Given the description of an element on the screen output the (x, y) to click on. 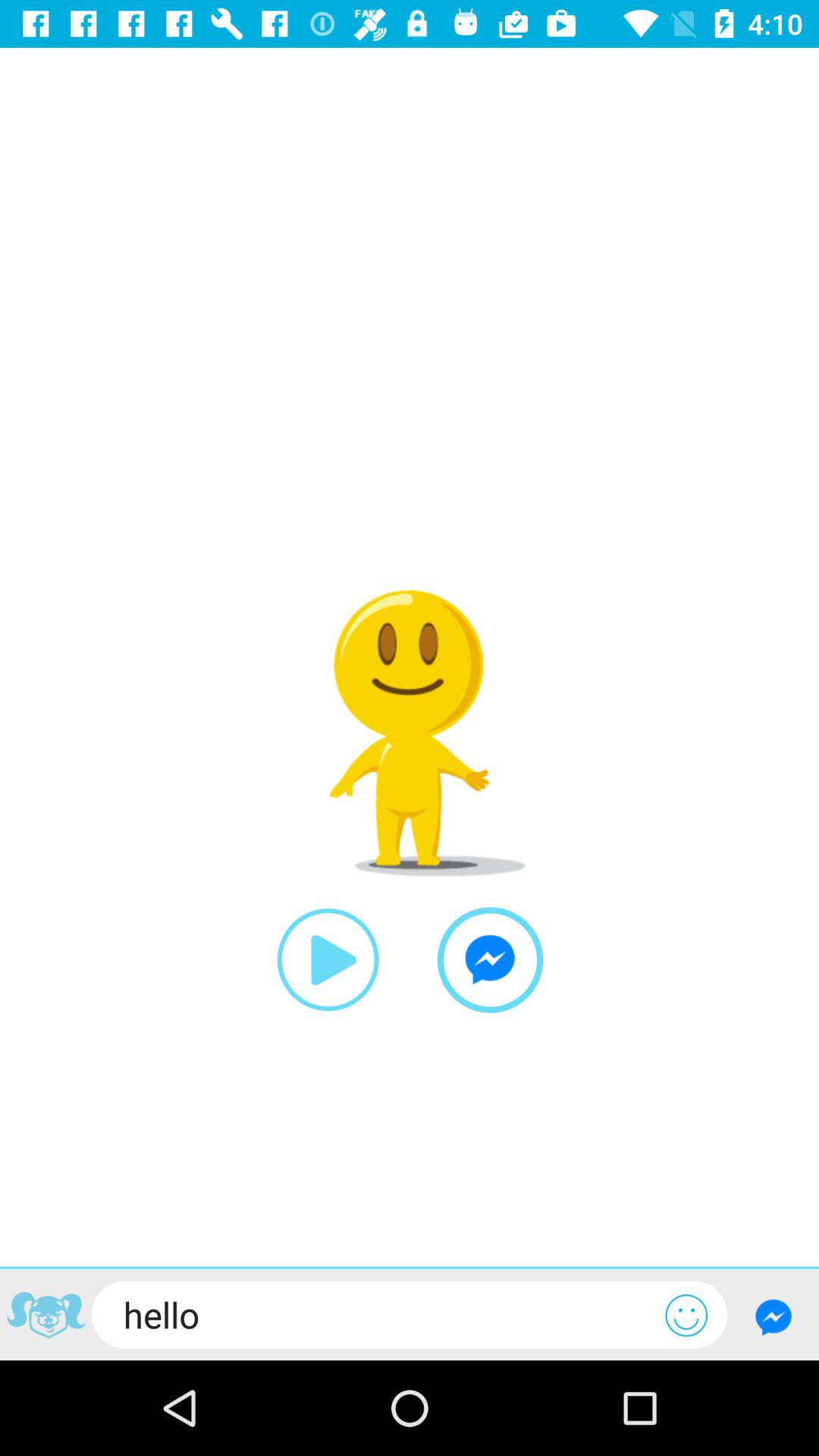
press the item to the right of hello (686, 1315)
